Given the description of an element on the screen output the (x, y) to click on. 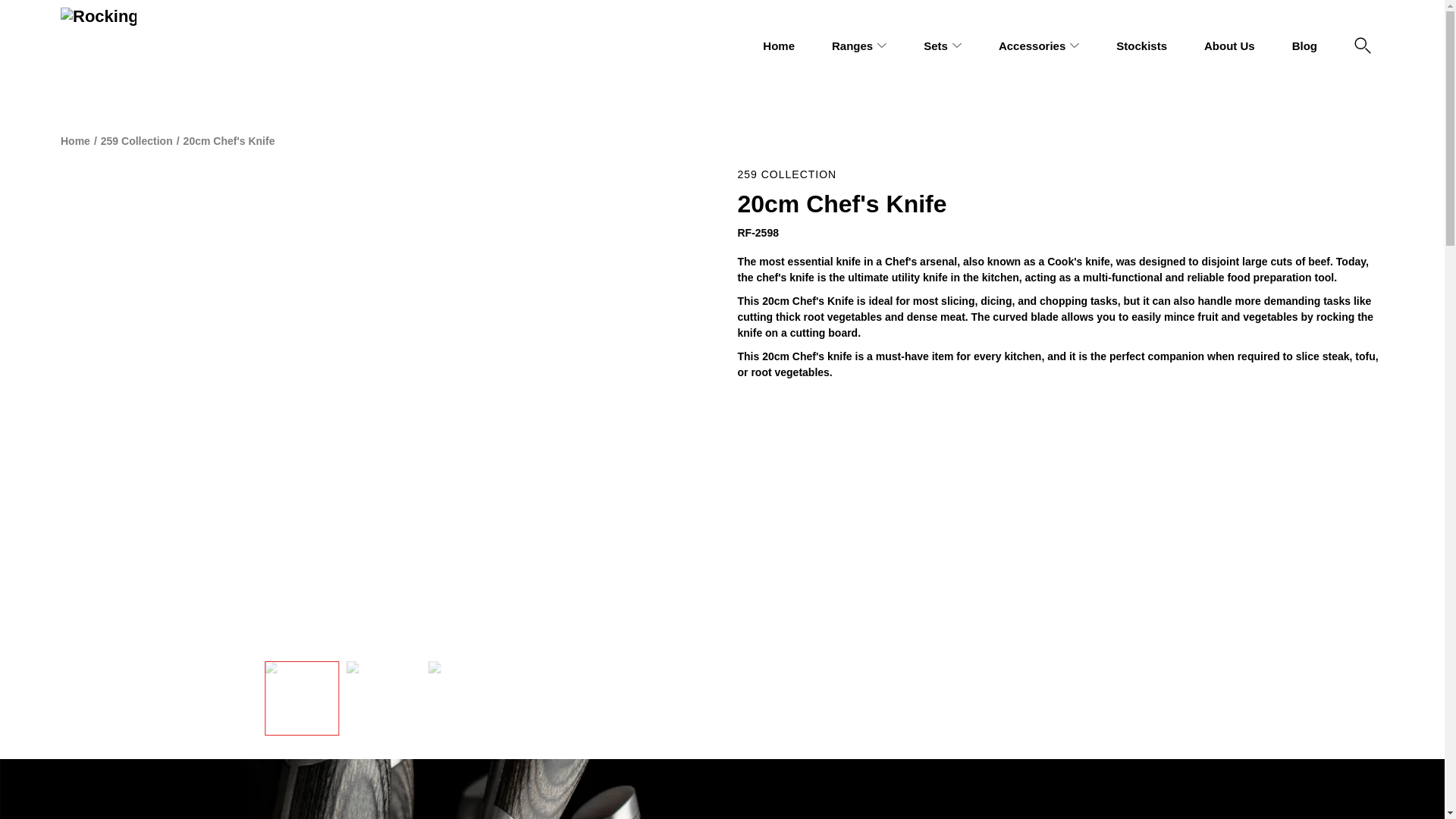
Home (778, 45)
Sets (935, 45)
Accessories (1031, 45)
Blog (1304, 45)
Back to the Homepage (75, 141)
About Us (1229, 45)
Stockists (1141, 45)
Ranges (851, 45)
